Given the description of an element on the screen output the (x, y) to click on. 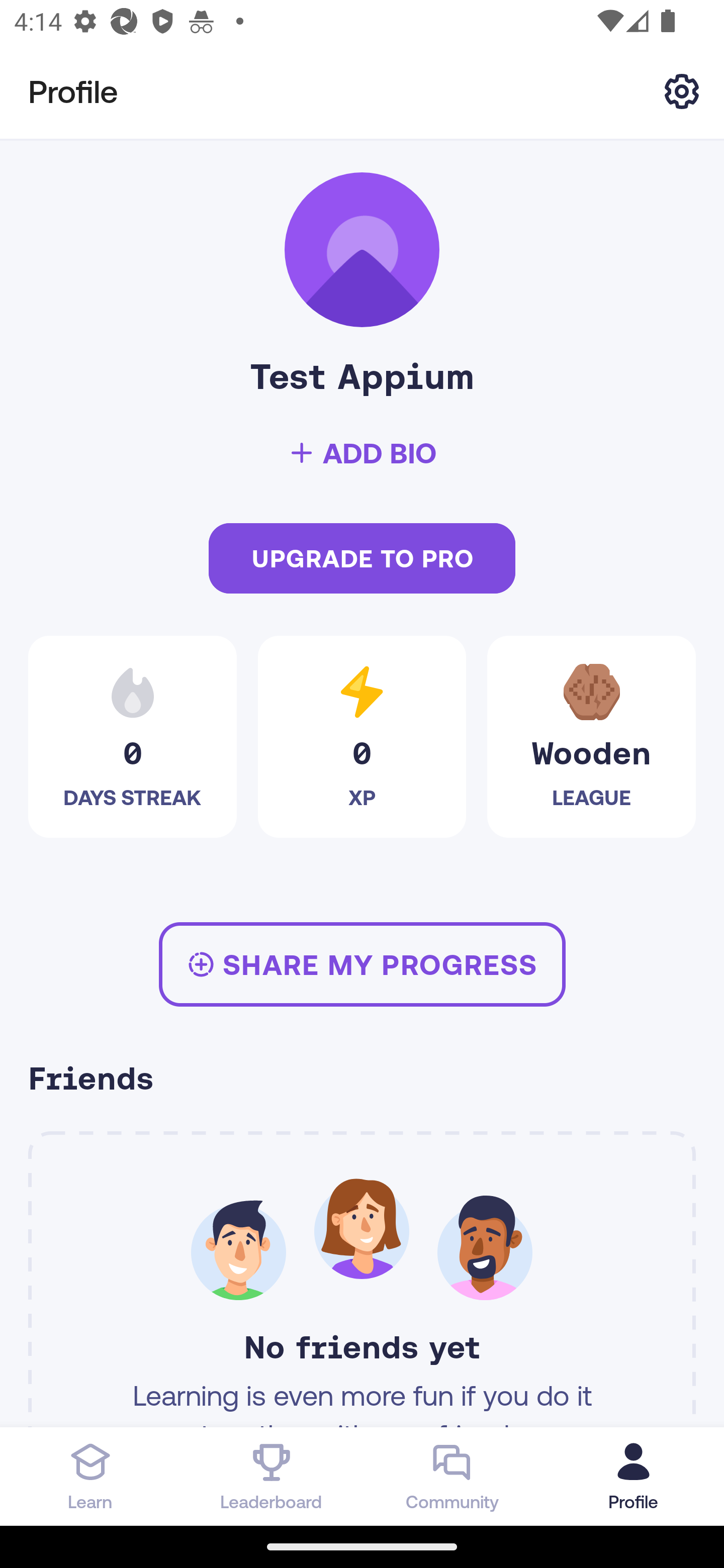
Settings (681, 90)
ADD BIO (361, 452)
UPGRADE TO PRO (361, 558)
SHARE MY PROGRESS (361, 963)
Friends (362, 1081)
Learn (90, 1475)
Leaderboard (271, 1475)
Community (452, 1475)
